Given the description of an element on the screen output the (x, y) to click on. 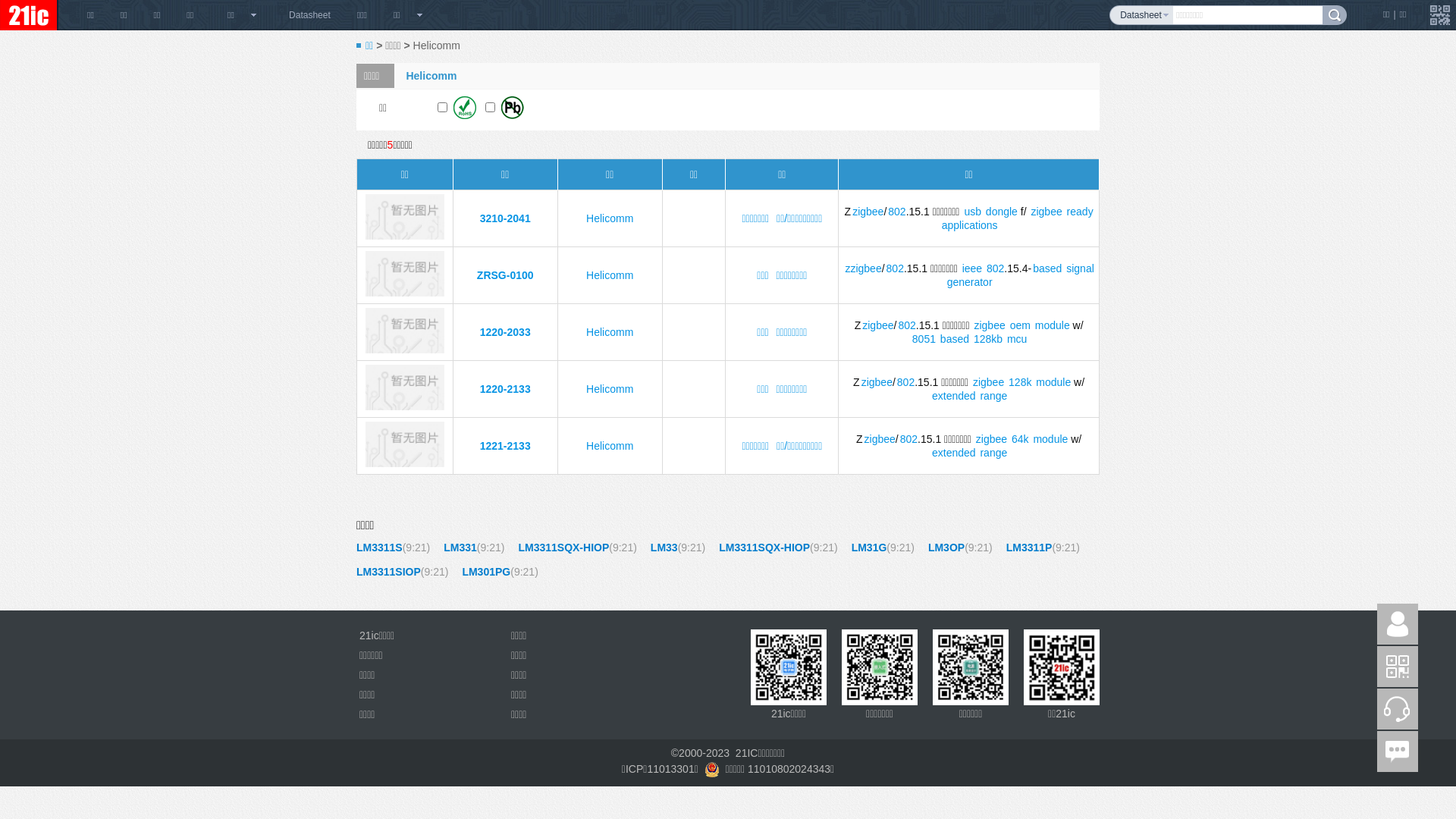
module Element type: text (1049, 439)
Datasheet Element type: text (309, 14)
zigbee Element type: text (988, 382)
Helicomm Element type: text (609, 332)
zigbee Element type: text (879, 439)
LM3311SIOP Element type: text (388, 571)
64k Element type: text (1020, 439)
802 Element type: text (906, 325)
LM3OP Element type: text (946, 547)
3210-2041 Element type: hover (404, 235)
1220-2033 Element type: hover (404, 349)
zzigbee Element type: text (862, 268)
Datasheet Element type: text (1140, 14)
LM331 Element type: text (459, 547)
1221-2133 Element type: text (505, 445)
1220-2133 Element type: hover (404, 406)
LM3311SQX-HIOP Element type: text (763, 547)
802 Element type: text (896, 211)
LM3311S Element type: text (379, 547)
zigbee Element type: text (876, 382)
8051 Element type: text (923, 338)
Helicomm Element type: text (609, 275)
zigbee Element type: text (867, 211)
LM31G Element type: text (869, 547)
oem Element type: text (1020, 325)
Helicomm Element type: text (609, 445)
802 Element type: text (905, 382)
128k Element type: text (1019, 382)
1220-2033 Element type: text (505, 332)
Helicomm Element type: text (609, 218)
1221-2133 Element type: hover (404, 463)
extended Element type: text (953, 452)
LM3311SQX-HIOP Element type: text (562, 547)
ieee Element type: text (972, 268)
Helicomm Element type: text (609, 388)
802 Element type: text (995, 268)
module Element type: text (1052, 325)
based Element type: text (1046, 268)
zigbee Element type: text (877, 325)
3210-2041 Element type: text (505, 218)
802 Element type: text (908, 439)
LM301PG Element type: text (485, 571)
extended Element type: text (953, 395)
ready Element type: text (1079, 211)
applications Element type: text (969, 225)
ZRSG-0100 Element type: hover (404, 292)
usb Element type: text (972, 211)
zigbee Element type: text (988, 325)
mcu Element type: text (1016, 338)
1220-2133 Element type: text (505, 388)
range Element type: text (993, 395)
signal Element type: text (1080, 268)
802 Element type: text (894, 268)
ZRSG-0100 Element type: text (504, 275)
based Element type: text (954, 338)
zigbee Element type: text (991, 439)
128kb Element type: text (987, 338)
dongle Element type: text (1001, 211)
range Element type: text (993, 452)
zigbee Element type: text (1045, 211)
module Element type: text (1052, 382)
LM3311P Element type: text (1029, 547)
LM33 Element type: text (663, 547)
generator Element type: text (969, 282)
